Given the description of an element on the screen output the (x, y) to click on. 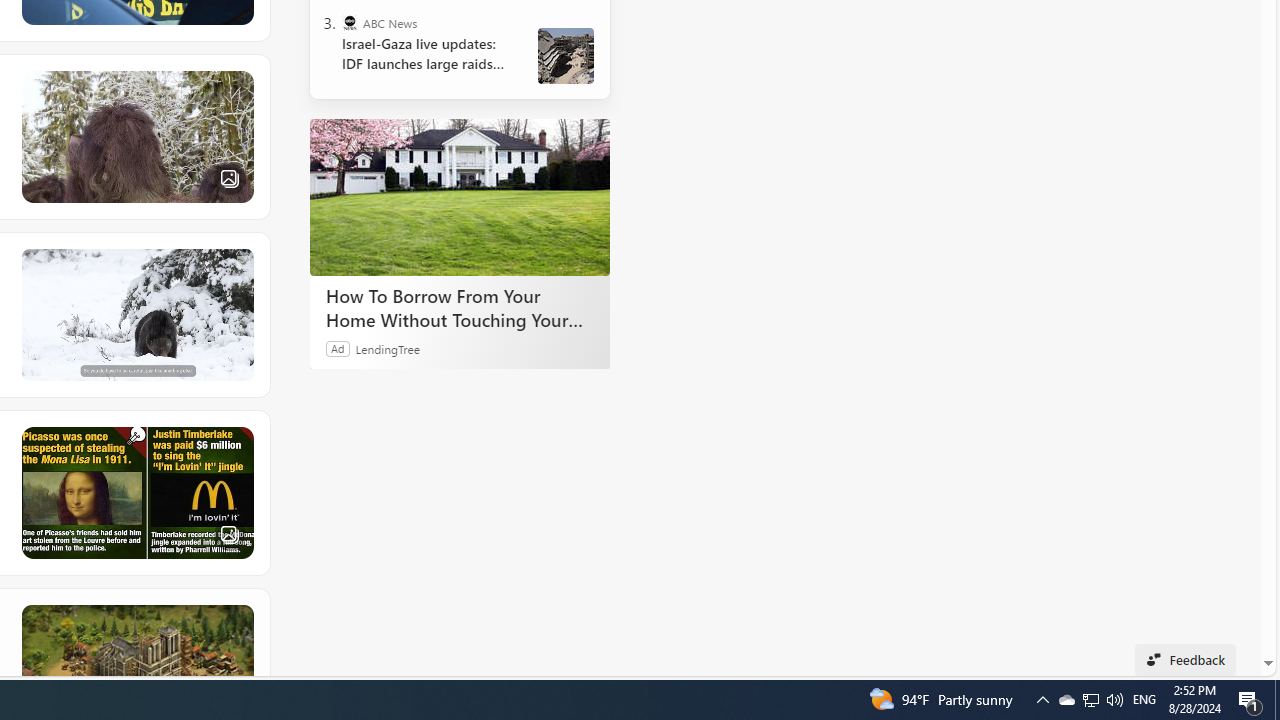
LendingTree (387, 348)
Class: hero-image (136, 314)
31 Now-You-Know Facts About Science, History and More (136, 492)
ABC News (349, 22)
How To Borrow From Your Home Without Touching Your Mortgage (459, 196)
How To Borrow From Your Home Without Touching Your Mortgage (459, 307)
